Given the description of an element on the screen output the (x, y) to click on. 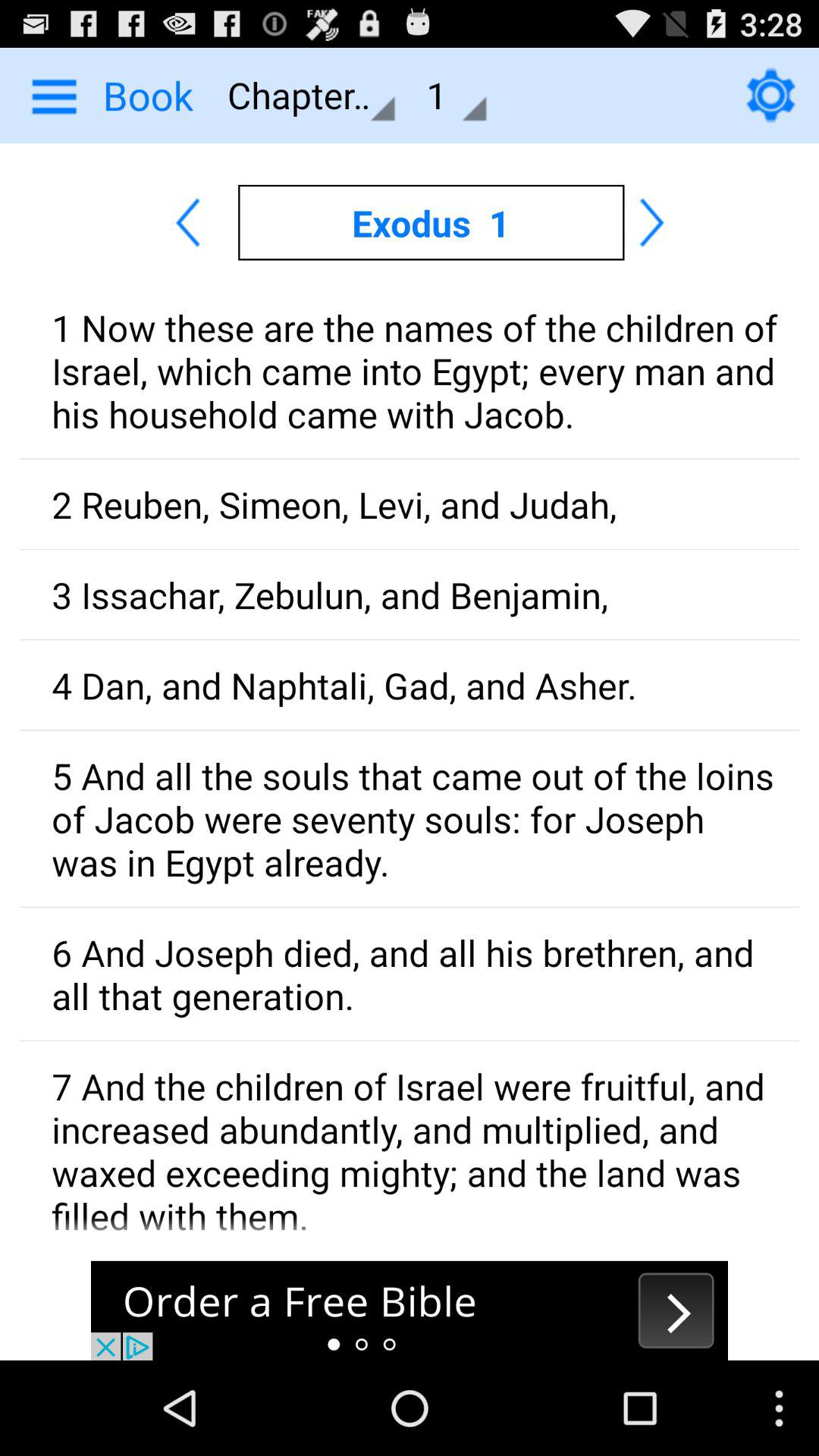
go to next button (409, 1310)
